Given the description of an element on the screen output the (x, y) to click on. 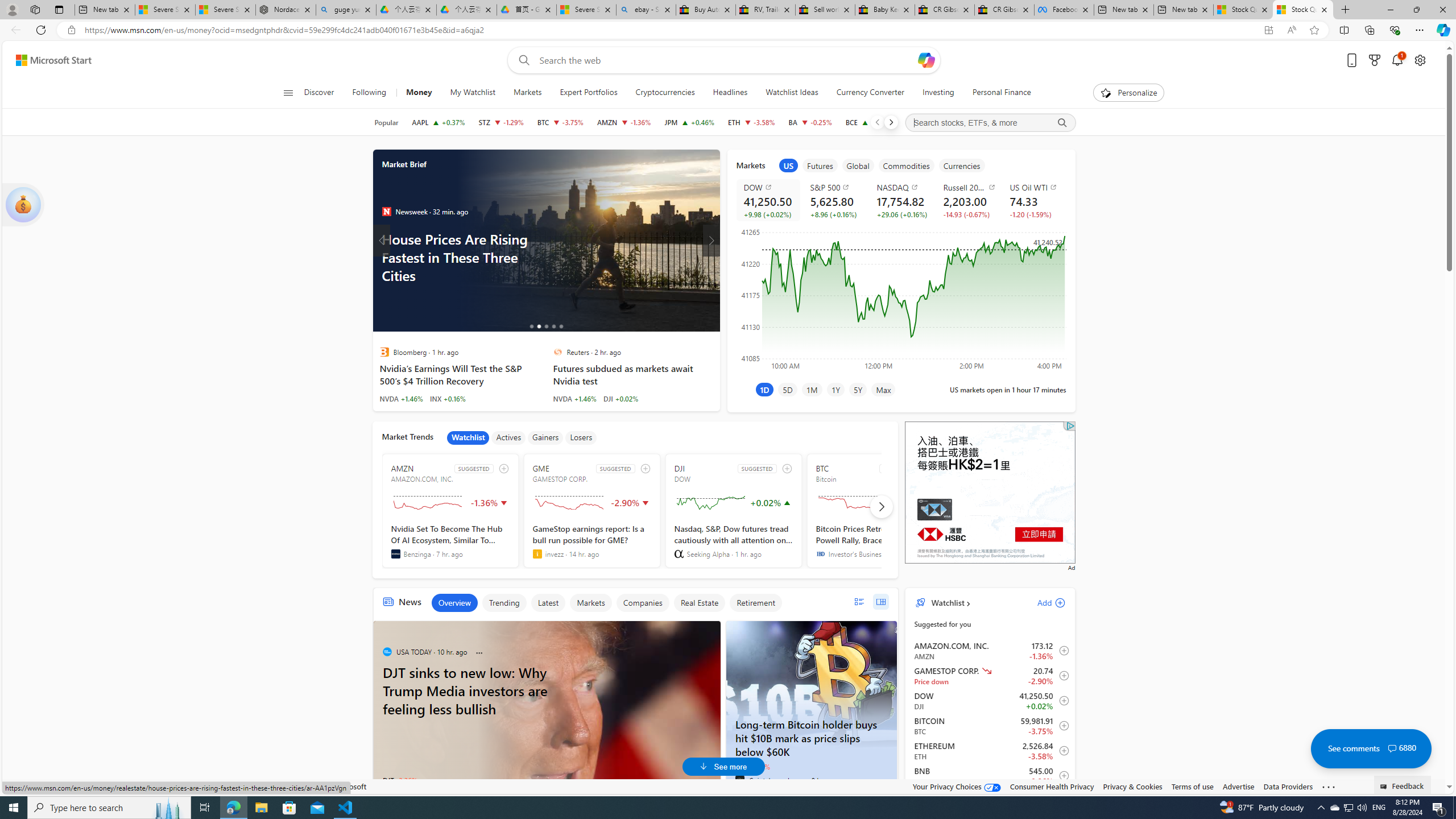
Expert Portfolios (588, 92)
Expert Portfolios (588, 92)
Popular (386, 121)
Investing (937, 92)
INX +0.16% (447, 397)
Skip to content (49, 59)
add to watchlist (785, 468)
Futures (819, 164)
Class: recharts-surface (900, 298)
Commodities (905, 164)
S&P 500 INX increase 5,625.80 +8.96 +0.16% (834, 200)
1D (764, 389)
